Given the description of an element on the screen output the (x, y) to click on. 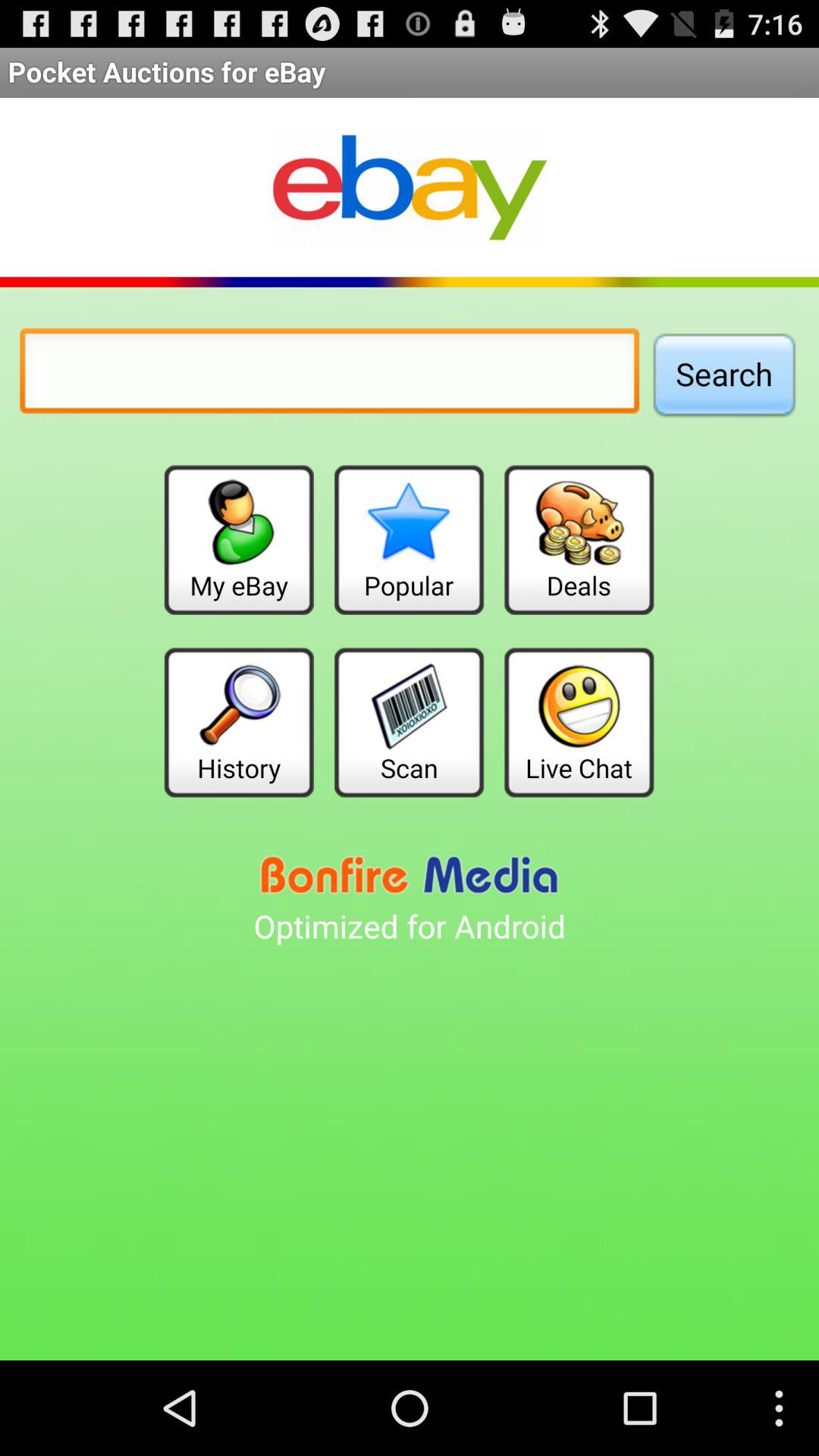
tap history icon (238, 722)
